Given the description of an element on the screen output the (x, y) to click on. 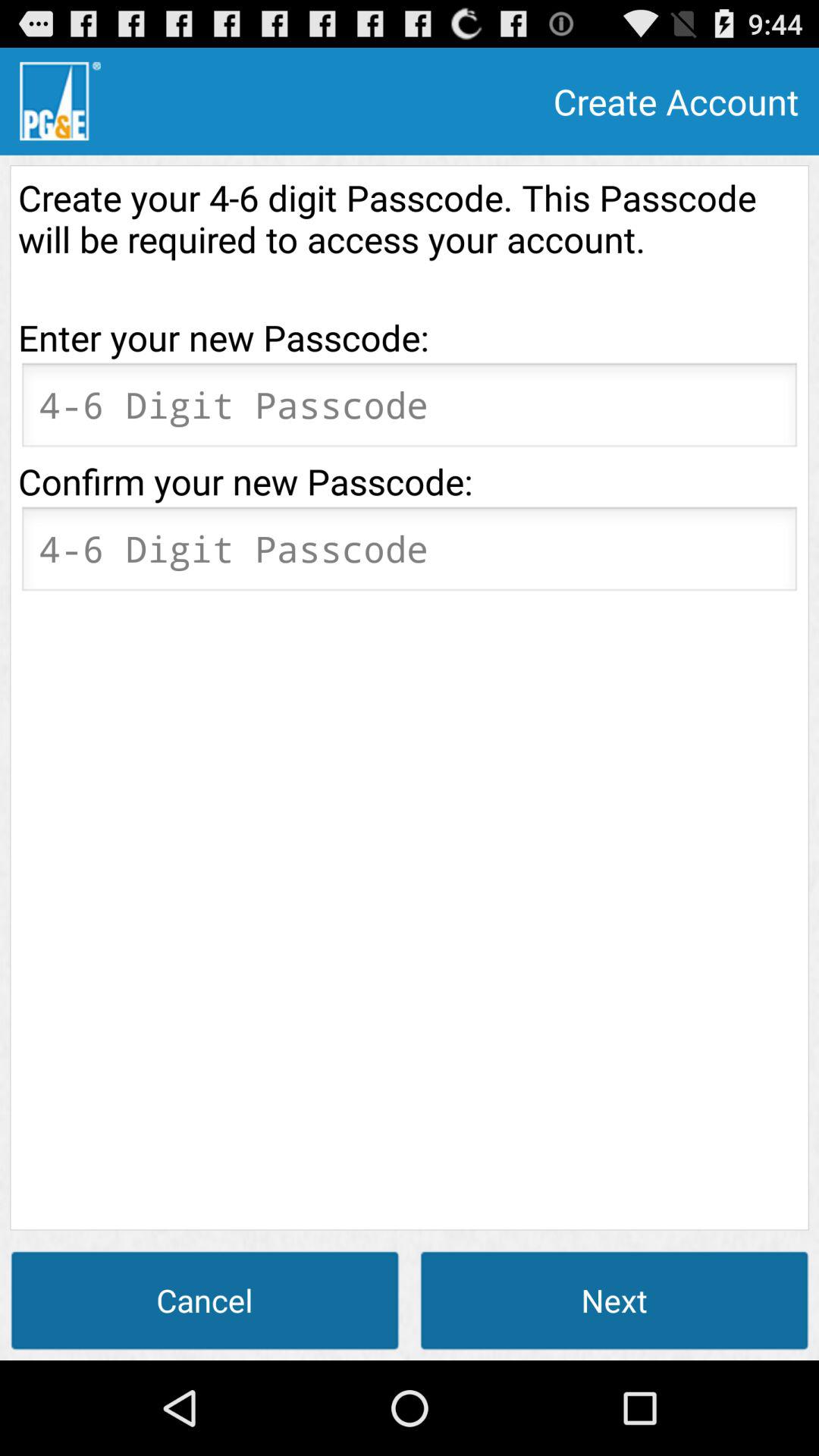
turn off the icon next to the cancel (613, 1300)
